Given the description of an element on the screen output the (x, y) to click on. 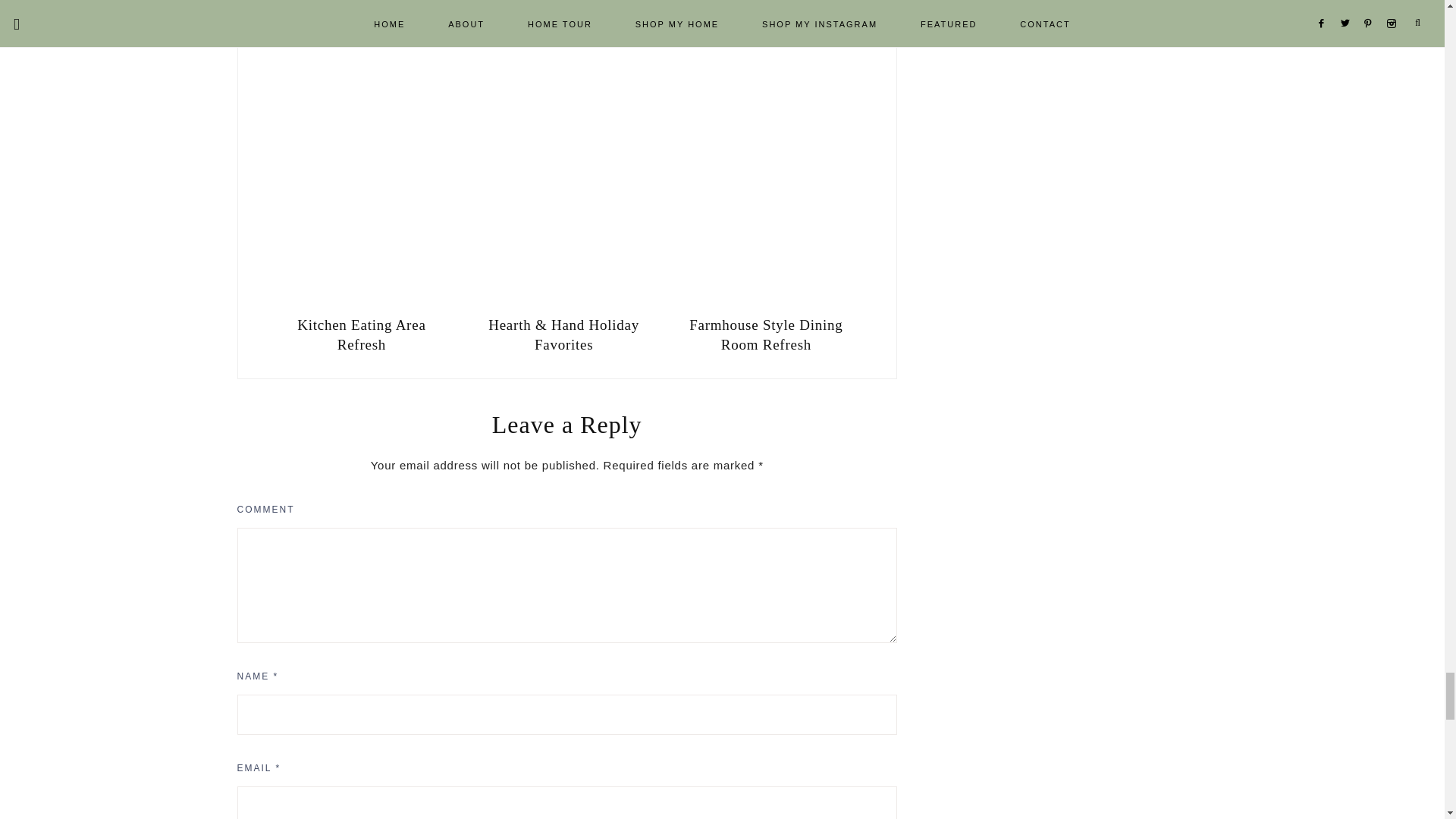
Permanent Link to Farmhouse Style Dining Room Refresh (766, 300)
Permanent Link to Kitchen Eating Area Refresh (361, 300)
Permanent Link to Kitchen Eating Area Refresh (361, 333)
